Given the description of an element on the screen output the (x, y) to click on. 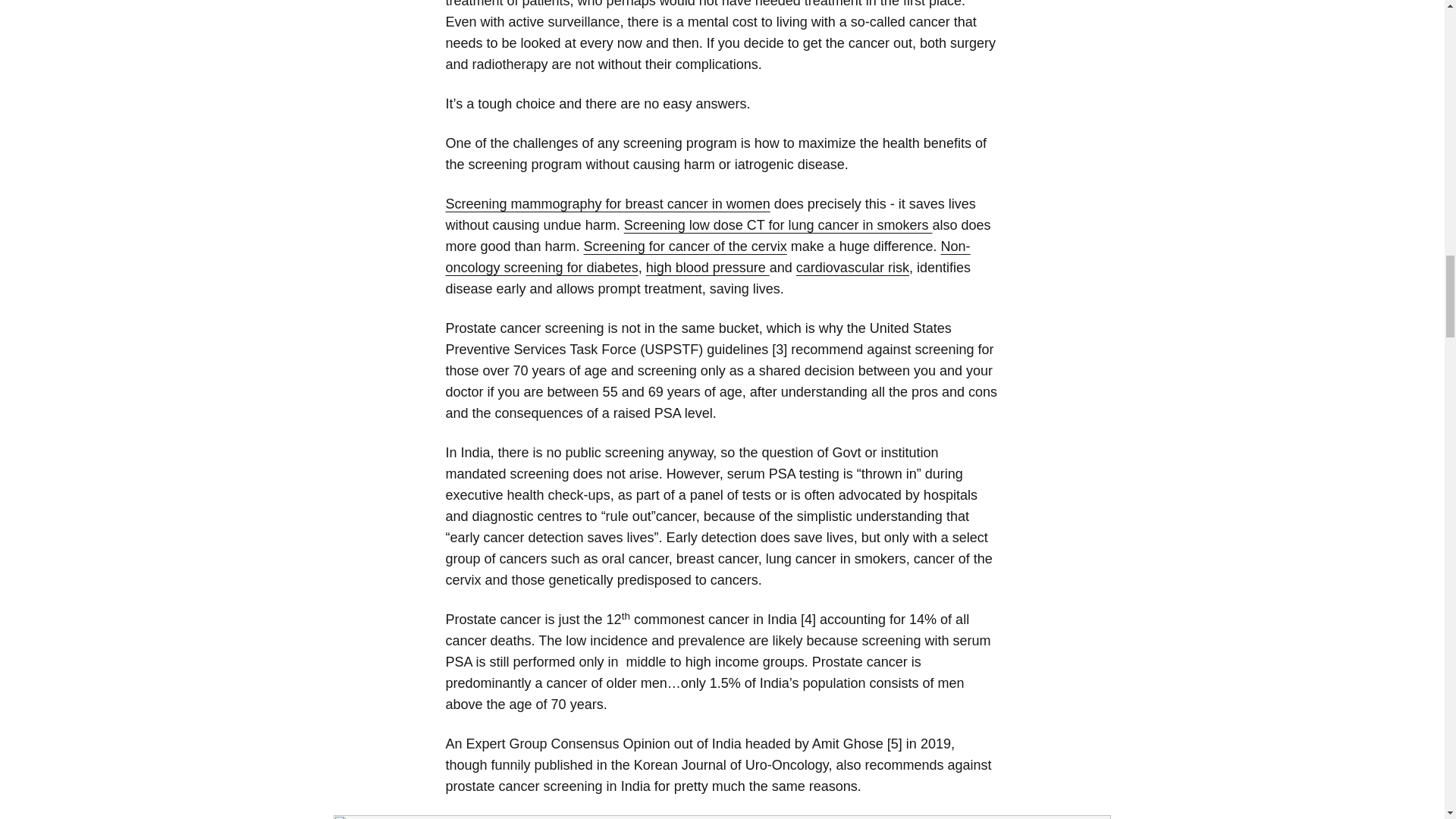
high blood pressure (708, 267)
cardiovascular risk (852, 267)
Screening for cancer of the cervix (685, 246)
Screening mammography for breast cancer in women (607, 203)
Screening low dose CT for lung cancer in smokers (778, 224)
Non-oncology screening for diabetes (708, 257)
